Given the description of an element on the screen output the (x, y) to click on. 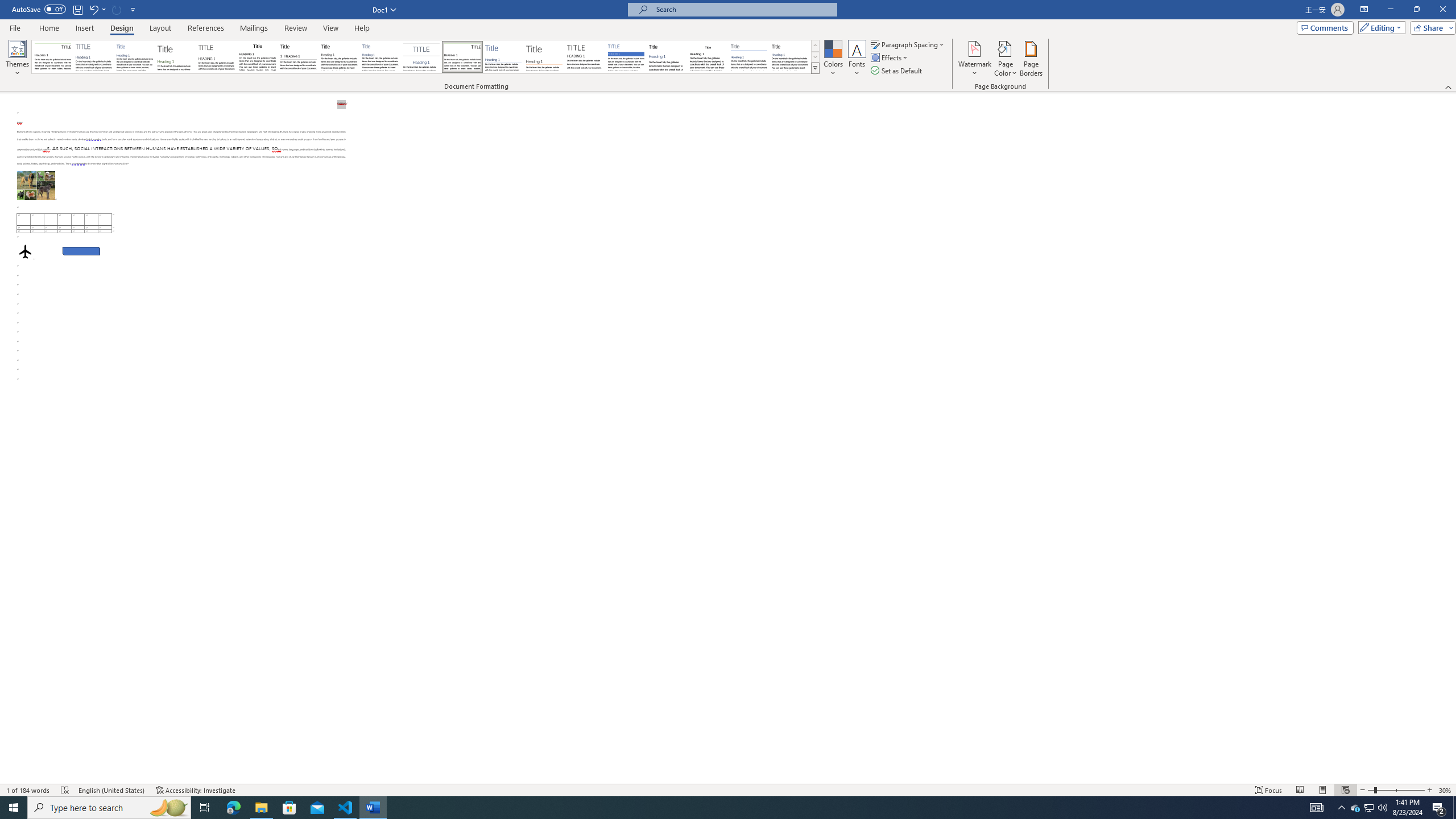
Word (666, 56)
Black & White (Capitalized) (216, 56)
Basic (Simple) (135, 56)
Document (52, 56)
Spelling and Grammar Check Errors (65, 790)
Basic (Stylish) (175, 56)
Set as Default (897, 69)
Basic (Elegant) (93, 56)
